Given the description of an element on the screen output the (x, y) to click on. 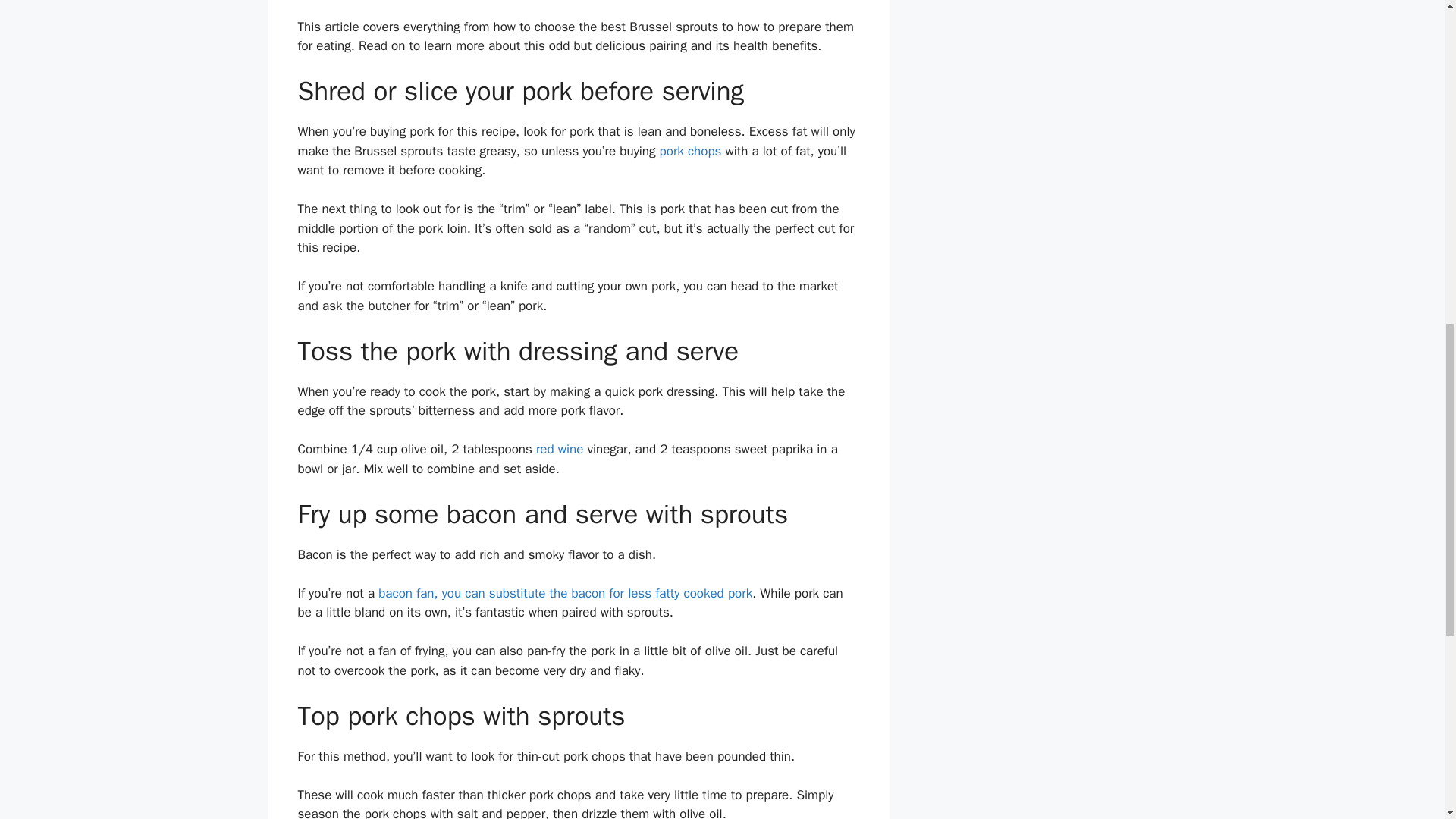
red wine (559, 449)
pork chops (690, 150)
